Given the description of an element on the screen output the (x, y) to click on. 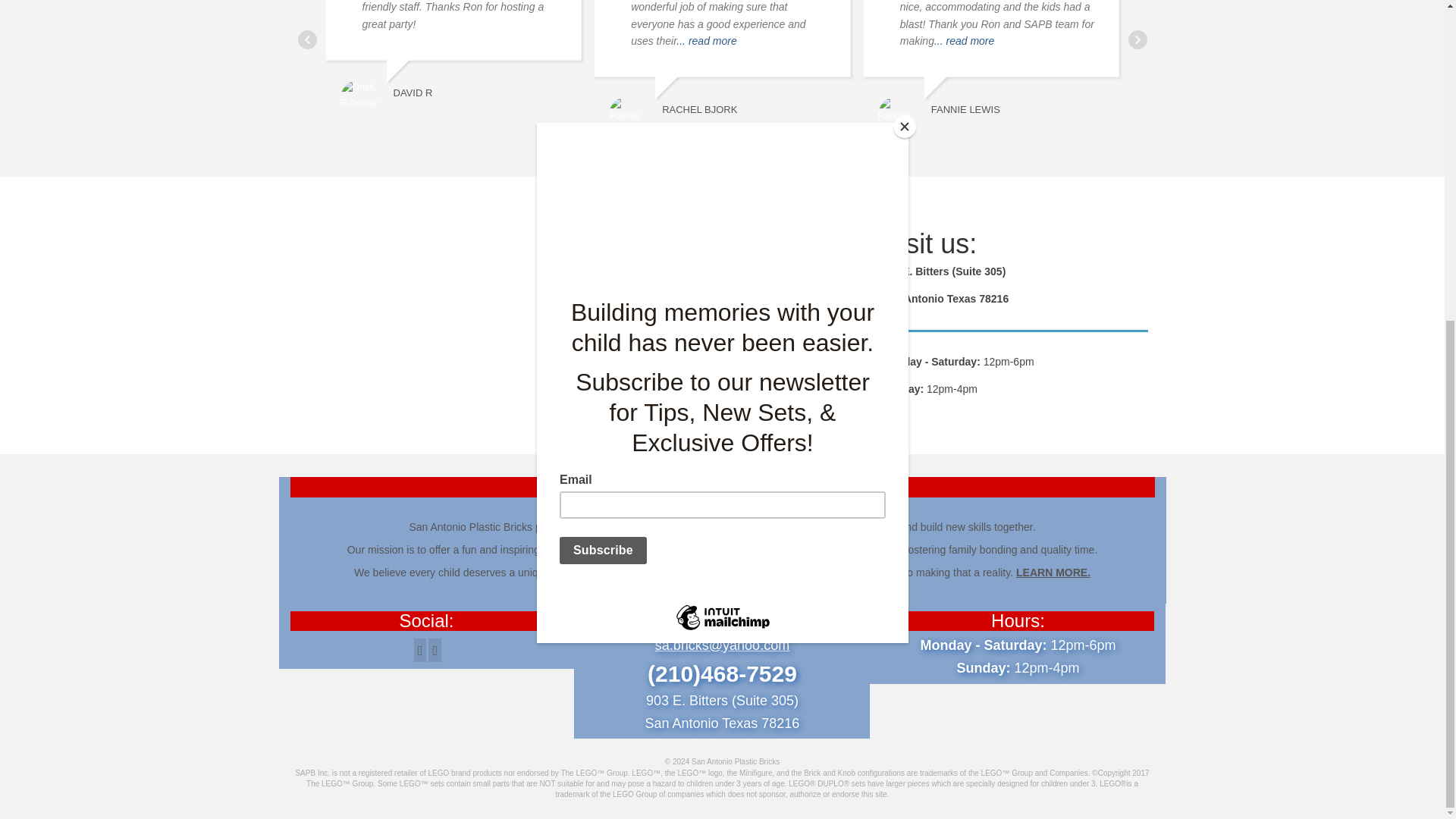
LEARN MORE. (1053, 572)
... read more (706, 40)
... read more (964, 40)
